Given the description of an element on the screen output the (x, y) to click on. 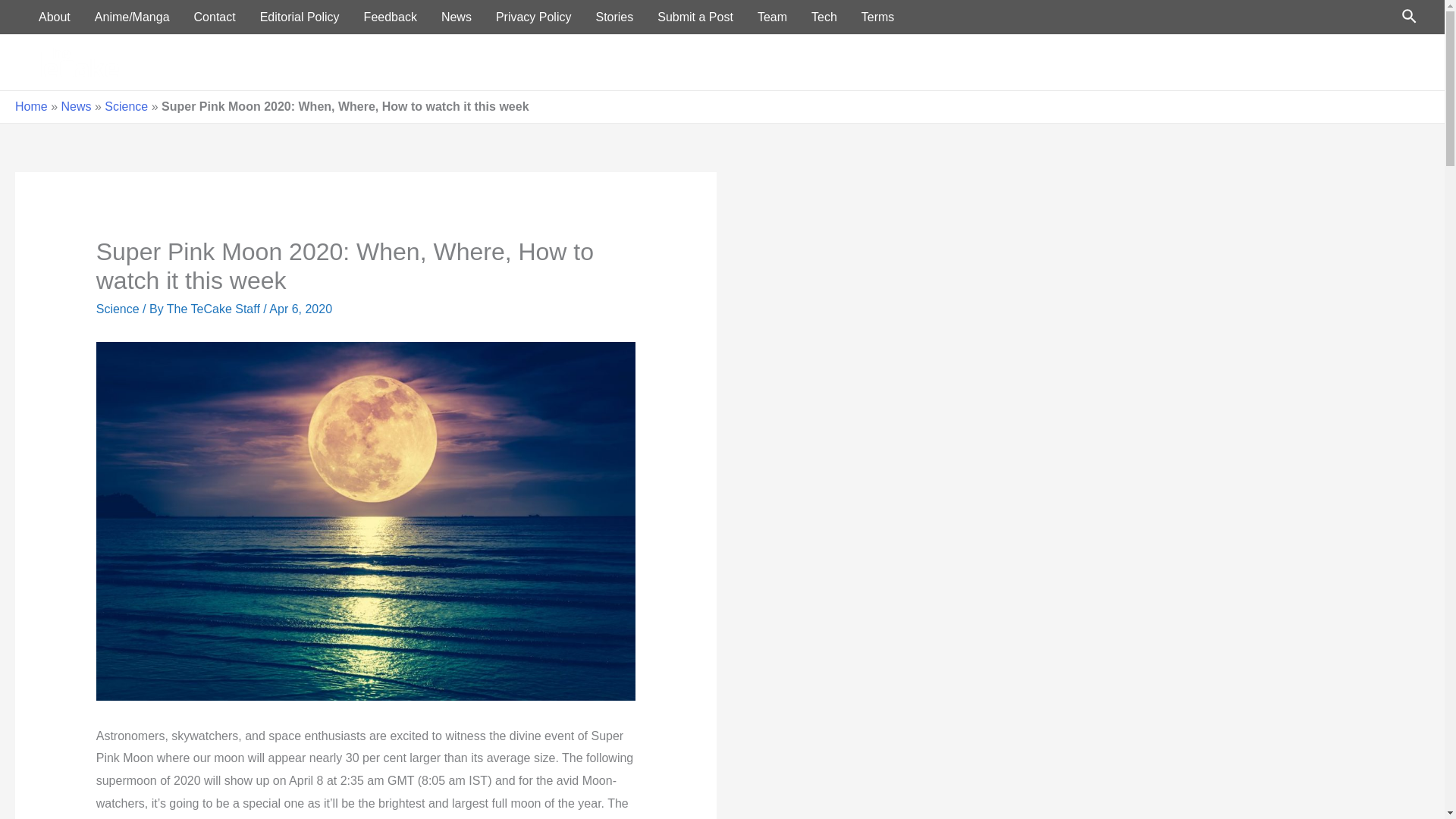
Home (1060, 62)
News (1215, 62)
Feedback (390, 17)
Stories (614, 17)
View all posts by The TeCake Staff (215, 308)
Tech (1267, 62)
News (456, 17)
Team (772, 17)
Science (126, 106)
News (75, 106)
